Given the description of an element on the screen output the (x, y) to click on. 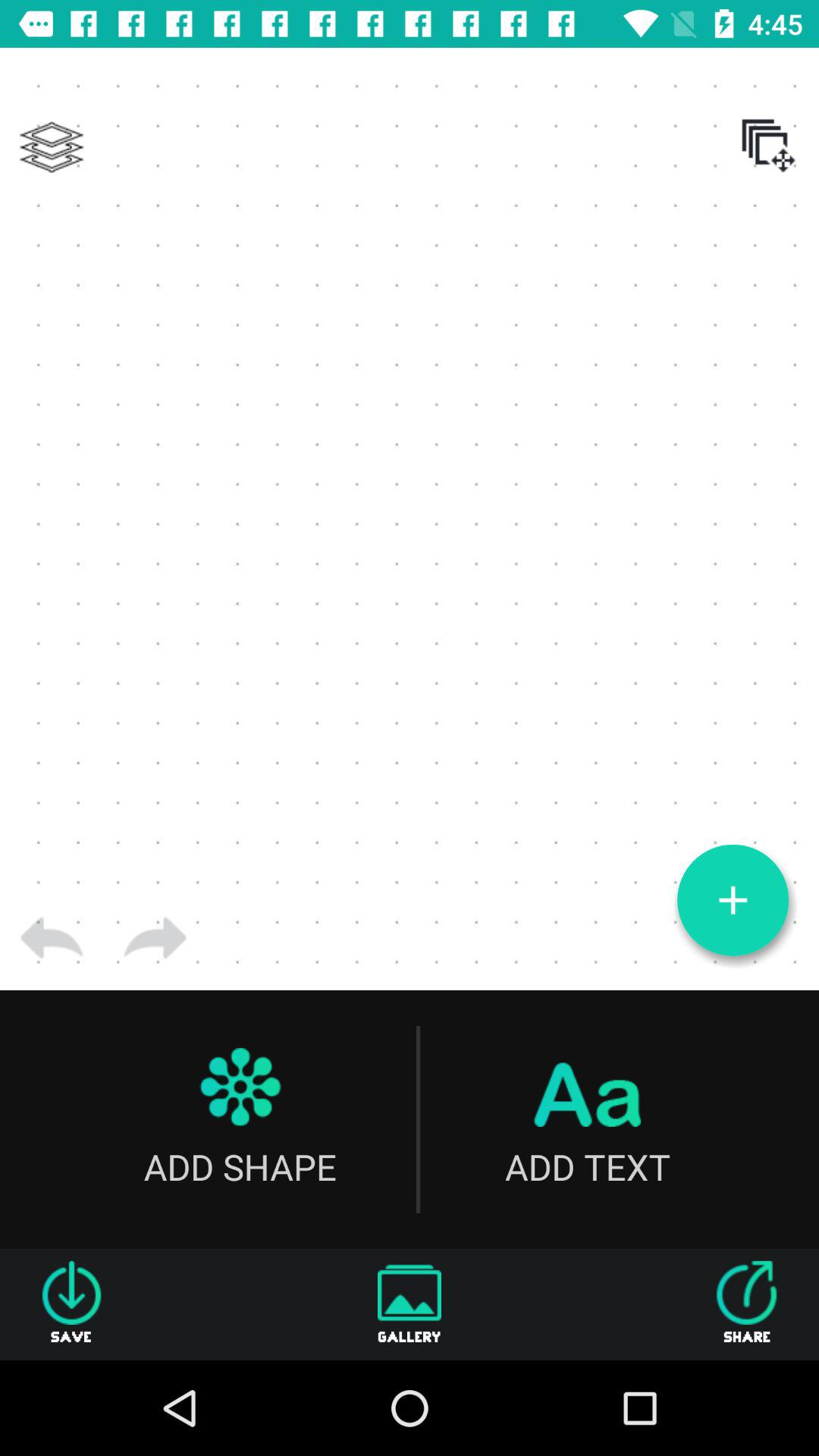
turn on the item next to gallery (71, 1304)
